Given the description of an element on the screen output the (x, y) to click on. 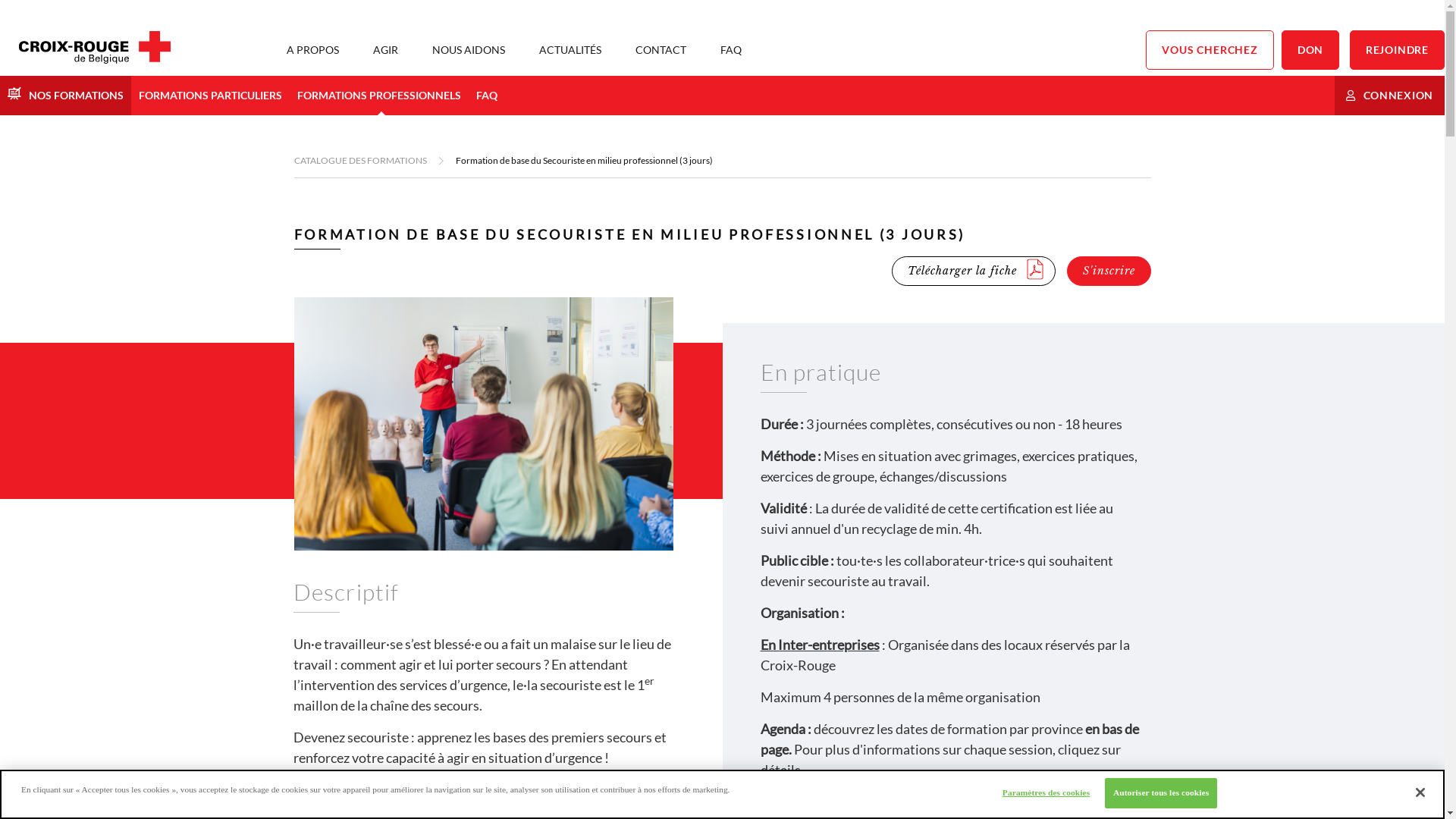
REJOINDRE Element type: text (1396, 49)
Autoriser tous les cookies Element type: text (1160, 793)
FAQ Element type: text (486, 95)
NOS FORMATIONS Element type: text (65, 95)
CONTACT Element type: text (660, 49)
CATALOGUE DES FORMATIONS Element type: text (360, 160)
NOUS AIDONS Element type: text (468, 49)
FORMATIONS PROFESSIONNELS Element type: text (378, 95)
S'inscrire Element type: text (1108, 270)
A PROPOS Element type: text (312, 49)
AGIR Element type: text (385, 49)
FORMATIONS PARTICULIERS Element type: text (210, 95)
FAQ Element type: text (730, 49)
DON Element type: text (1310, 49)
VOUS CHERCHEZ Element type: text (1209, 49)
